Given the description of an element on the screen output the (x, y) to click on. 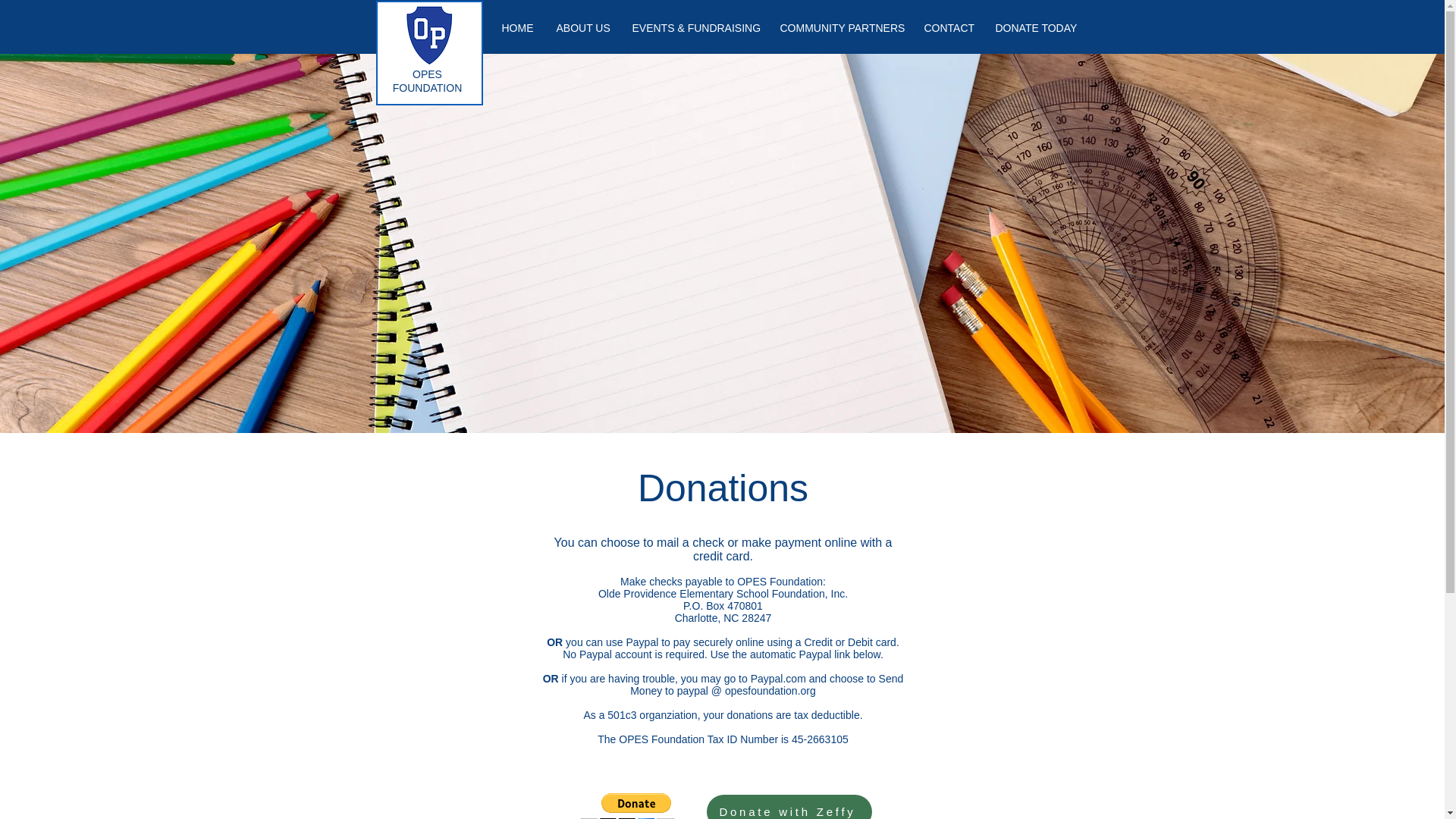
Donate with Zeffy (789, 806)
HOME (516, 26)
DONATE TODAY (1035, 26)
OPES (427, 73)
HOME (516, 27)
DONATE TODAY (1035, 27)
CONTACT (948, 27)
CONTACT (948, 26)
